Given the description of an element on the screen output the (x, y) to click on. 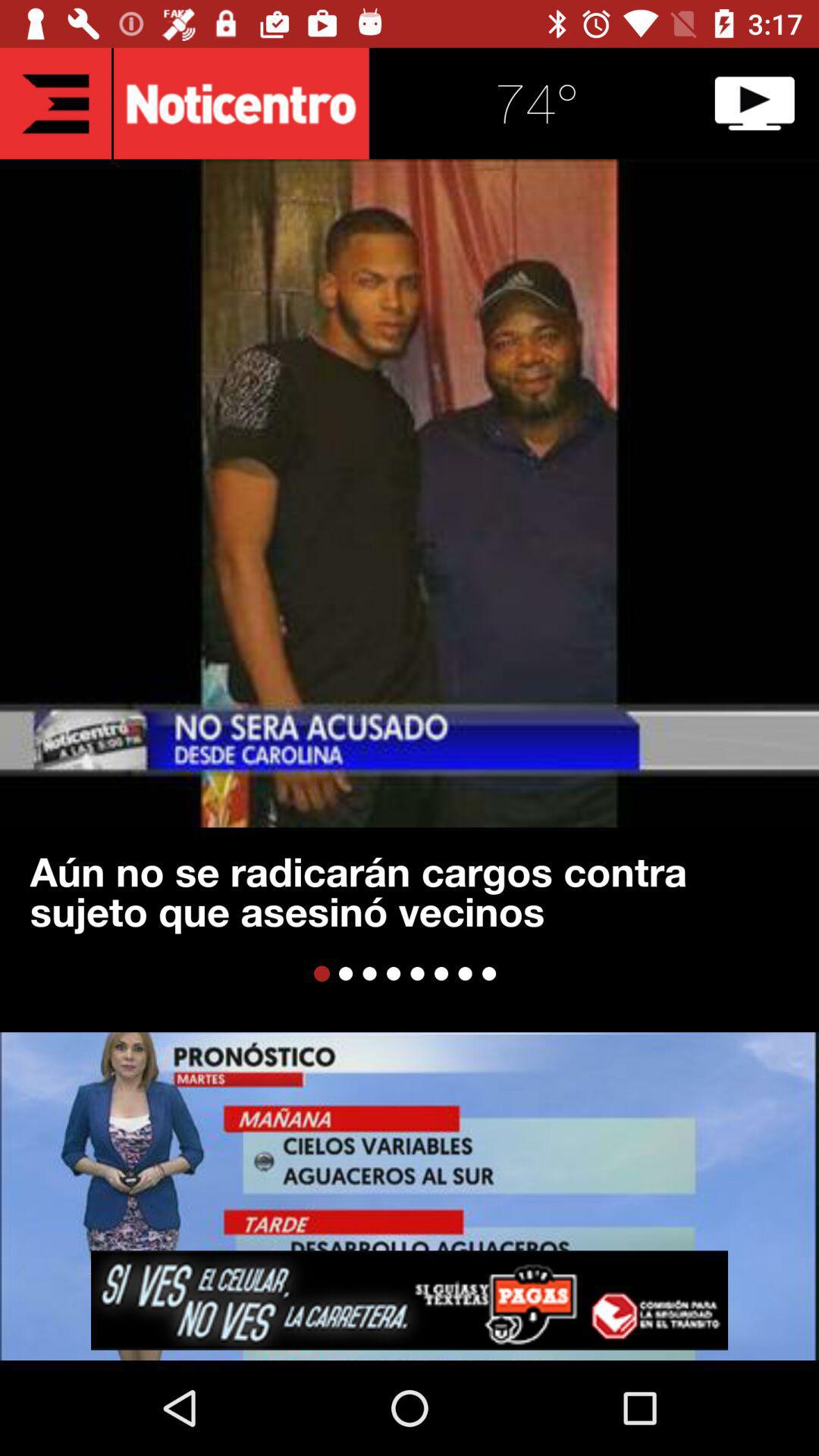
notes (55, 103)
